Given the description of an element on the screen output the (x, y) to click on. 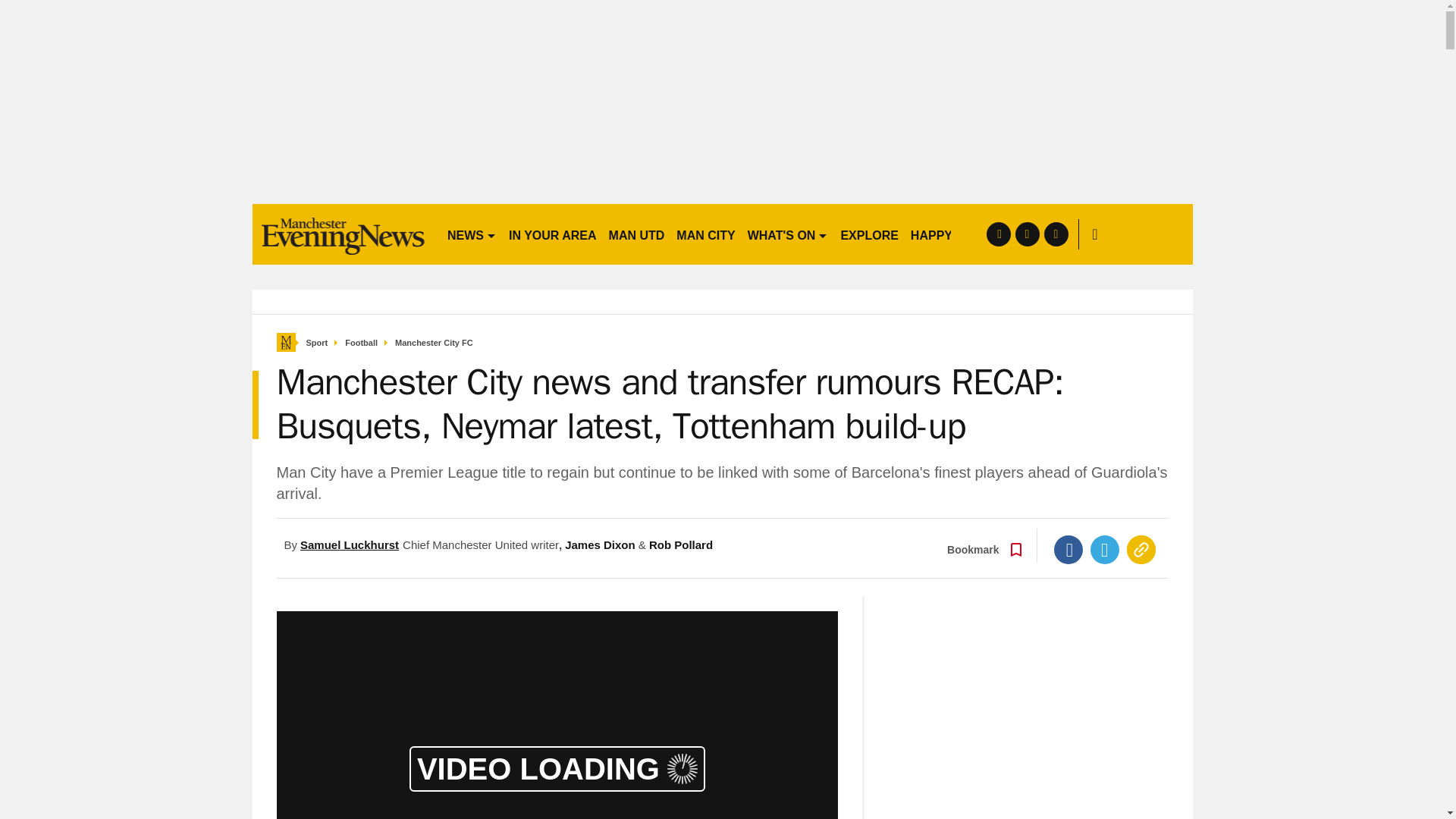
IN YOUR AREA (552, 233)
men (342, 233)
MAN UTD (636, 233)
WHAT'S ON (787, 233)
instagram (1055, 233)
NEWS (471, 233)
Facebook (1068, 549)
facebook (997, 233)
Twitter (1104, 549)
twitter (1026, 233)
MAN CITY (705, 233)
